Given the description of an element on the screen output the (x, y) to click on. 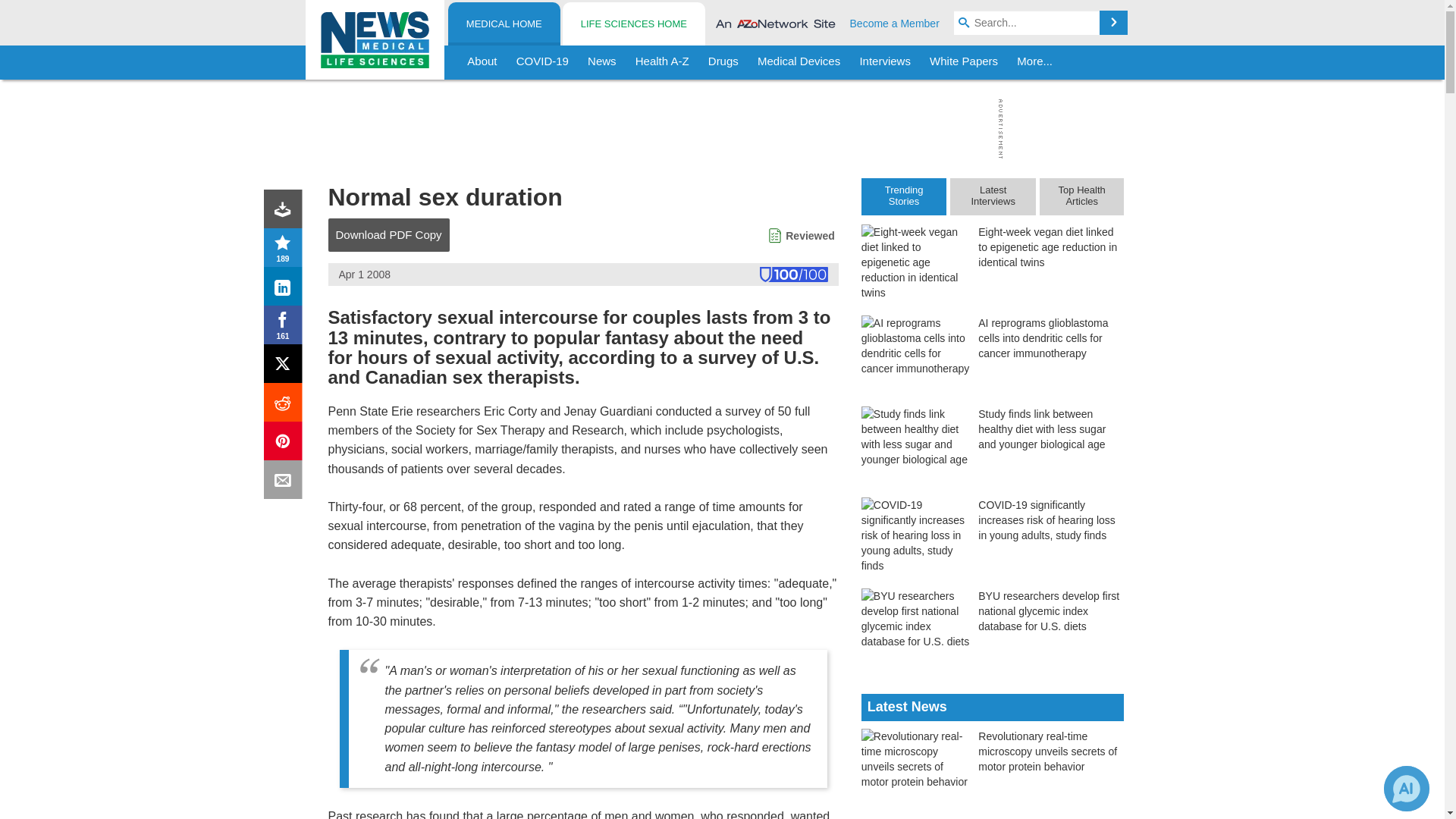
More... (1035, 62)
Reddit (285, 405)
Interviews (884, 62)
Medical Devices (798, 62)
LinkedIn (285, 289)
LIFE SCIENCES HOME (633, 23)
Become a Member (894, 22)
X (285, 366)
Drugs (722, 62)
News (601, 62)
Rating (285, 250)
About (482, 62)
Email (285, 483)
White Papers (963, 62)
